Given the description of an element on the screen output the (x, y) to click on. 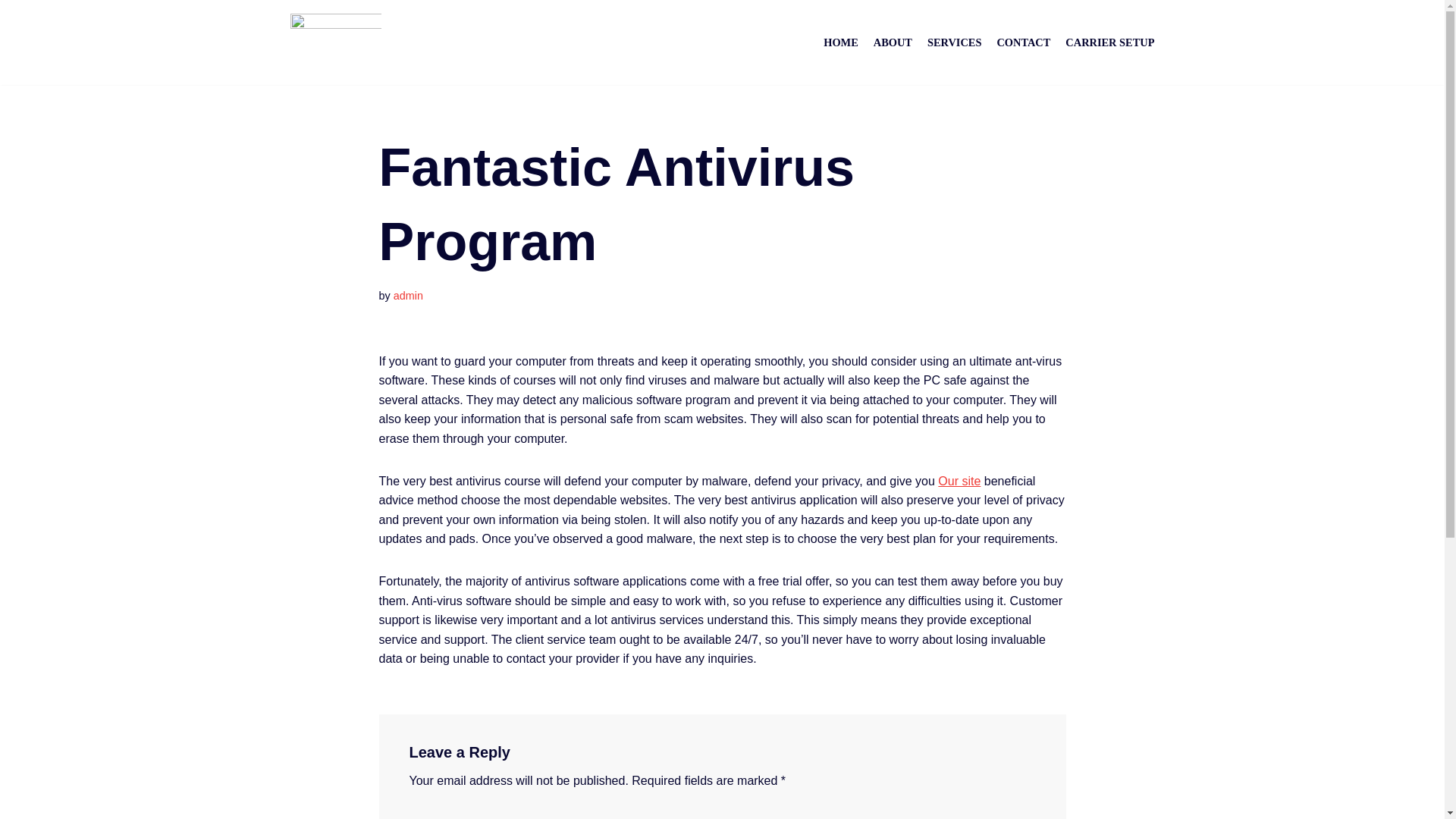
Posts by admin (408, 295)
Skip to content (11, 31)
CARRIER SETUP (1109, 42)
Our site (958, 481)
FLY TYME TRANSPORT (334, 42)
CONTACT (1022, 42)
ABOUT (892, 42)
SERVICES (954, 42)
HOME (841, 42)
admin (408, 295)
